Given the description of an element on the screen output the (x, y) to click on. 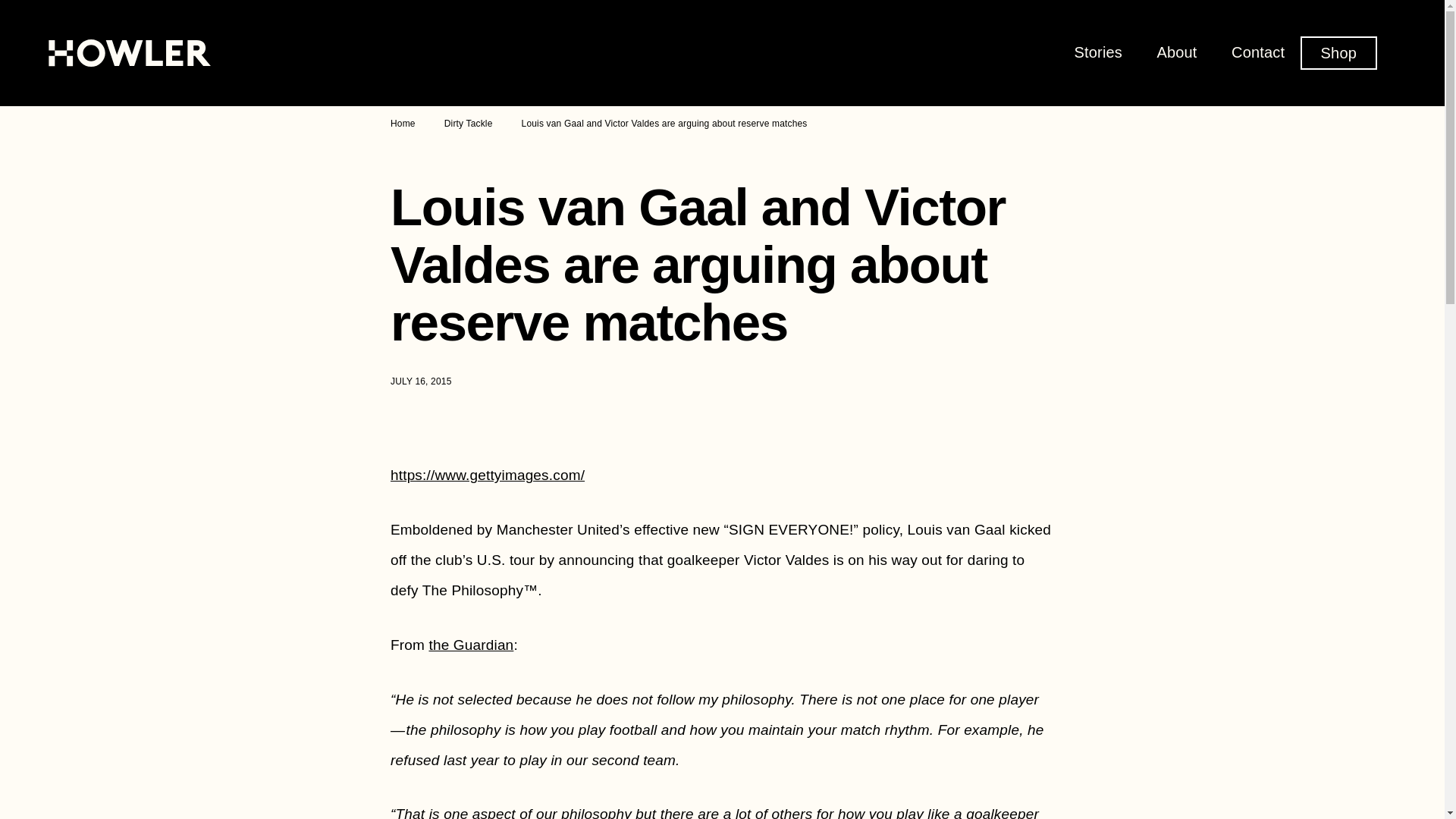
Contact (1257, 52)
the Guardian (470, 644)
Shop (1338, 51)
Stories (1098, 52)
Home (402, 122)
Dirty Tackle (468, 122)
About (1176, 52)
